Given the description of an element on the screen output the (x, y) to click on. 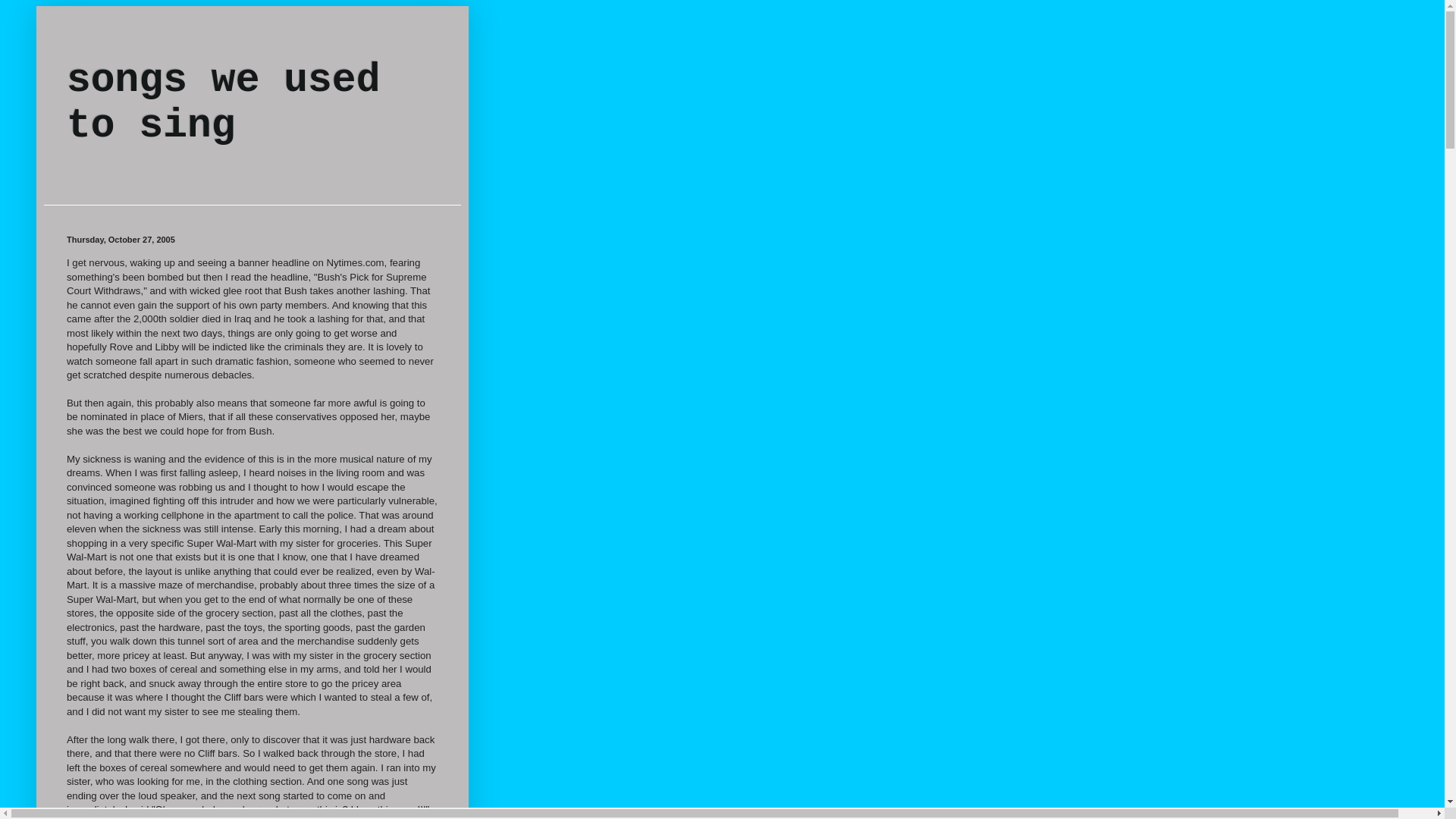
songs we used to sing (223, 102)
